Given the description of an element on the screen output the (x, y) to click on. 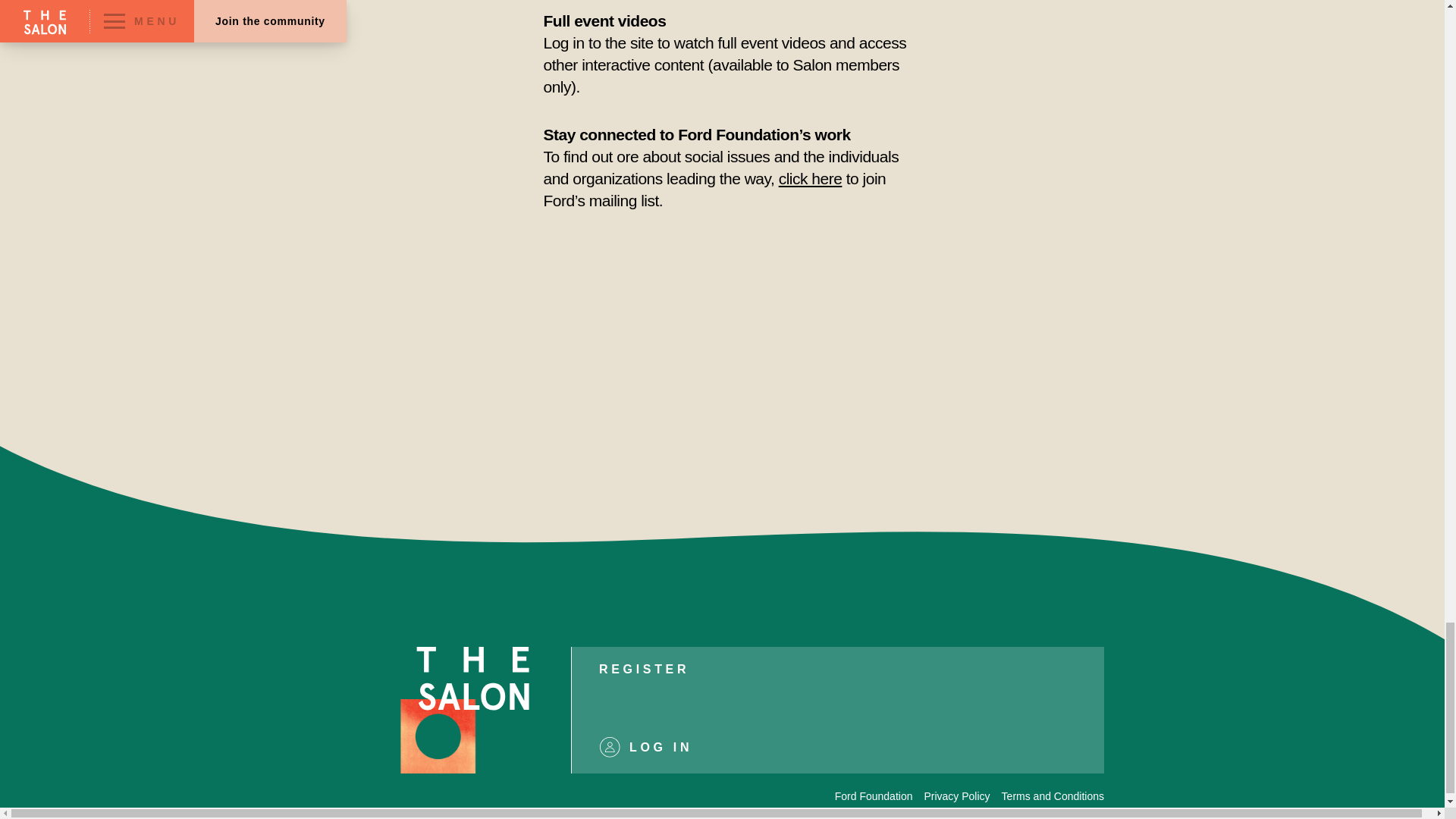
Terms and Conditions (1052, 796)
Privacy Policy (956, 796)
Ford Foundation (873, 796)
REGISTER (643, 668)
LOG IN (837, 746)
click here (810, 178)
